Given the description of an element on the screen output the (x, y) to click on. 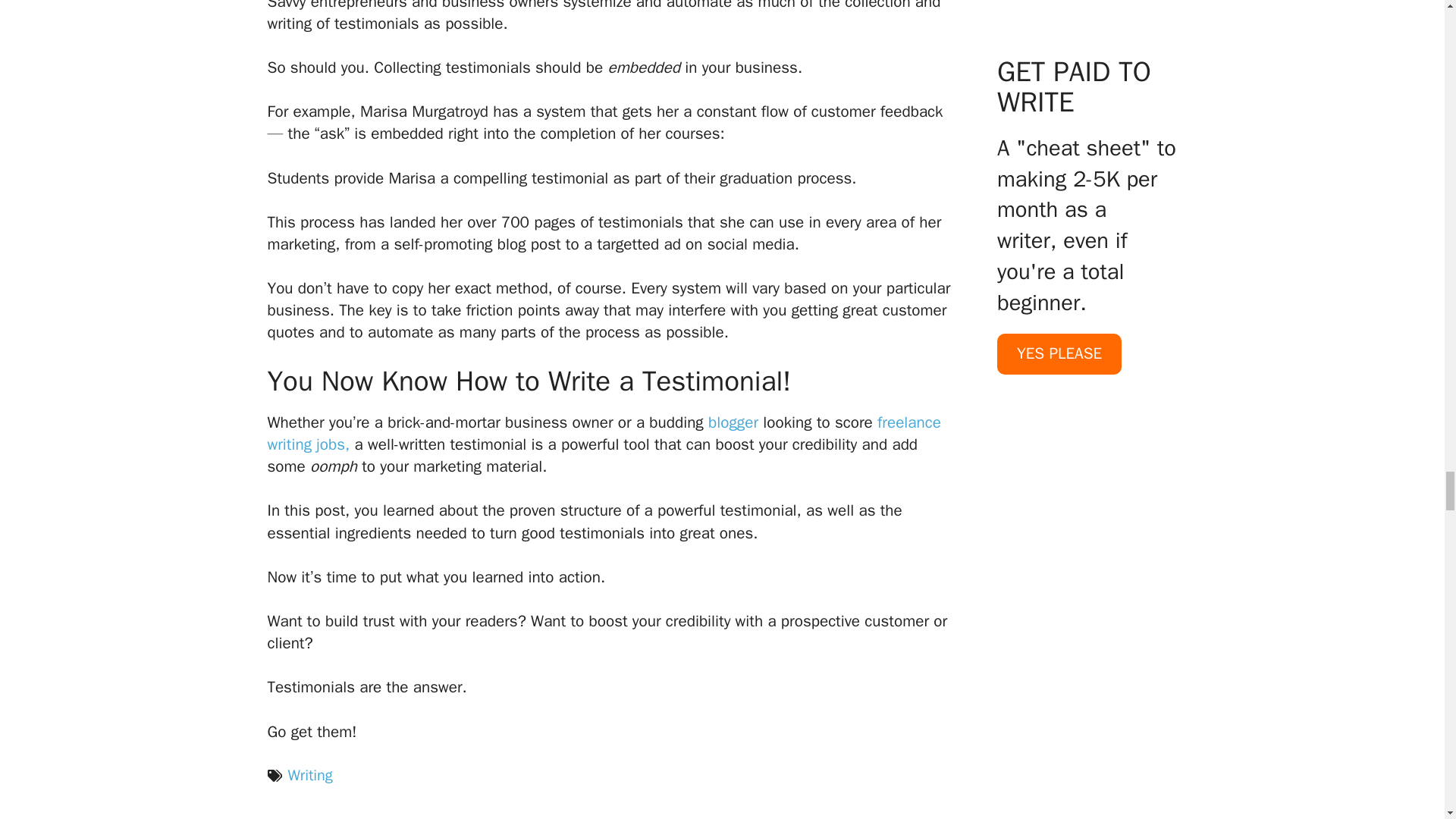
freelance writing jobs, (603, 433)
blogger (732, 422)
Writing (308, 774)
